Given the description of an element on the screen output the (x, y) to click on. 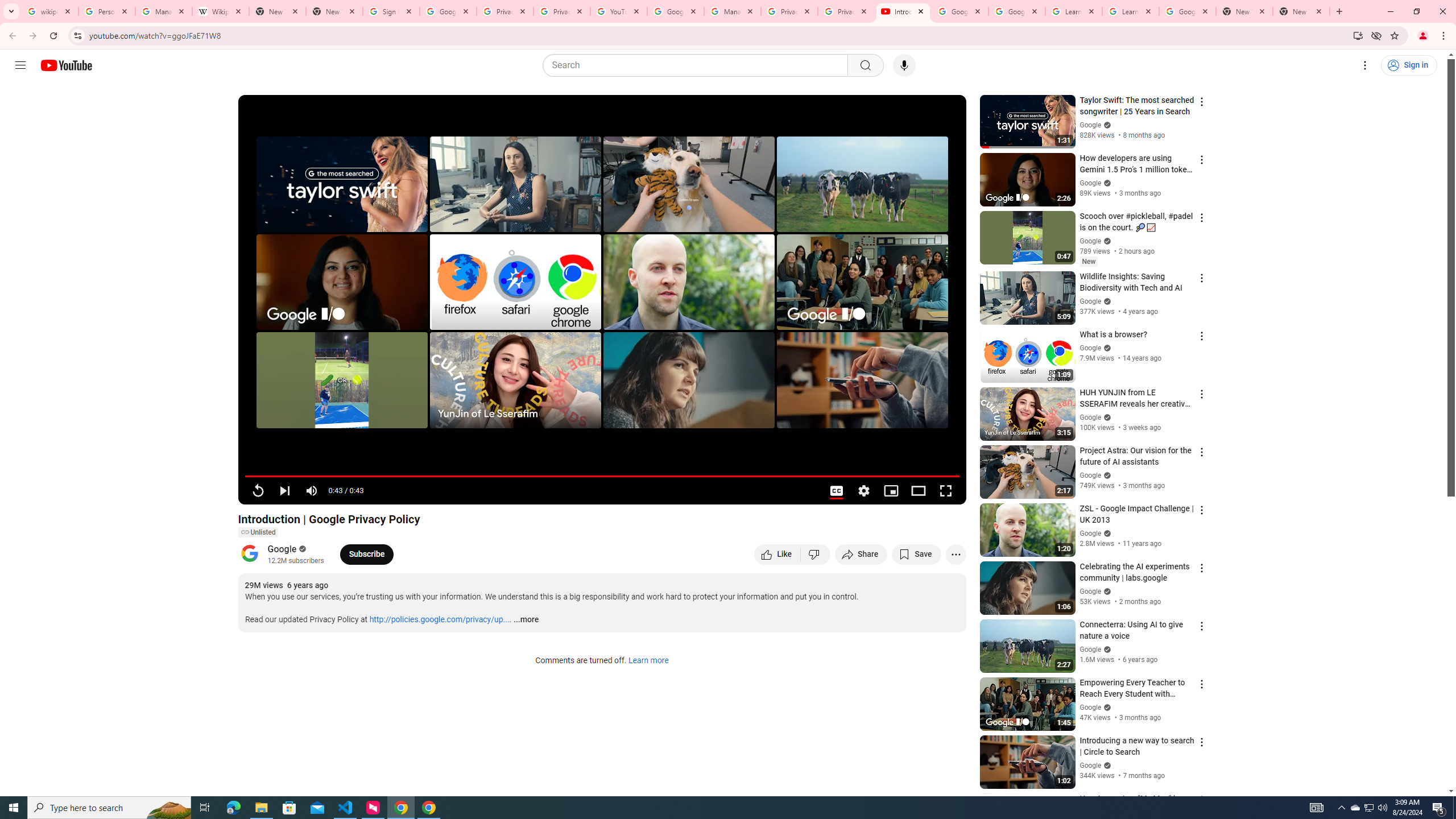
Google Account Help (1015, 11)
http://policies.google.com/privacy/up... (439, 619)
Theater mode (t) (917, 490)
New Tab (1244, 11)
Manage your Location History - Google Search Help (163, 11)
Google Drive: Sign-in (447, 11)
New (1087, 261)
